Given the description of an element on the screen output the (x, y) to click on. 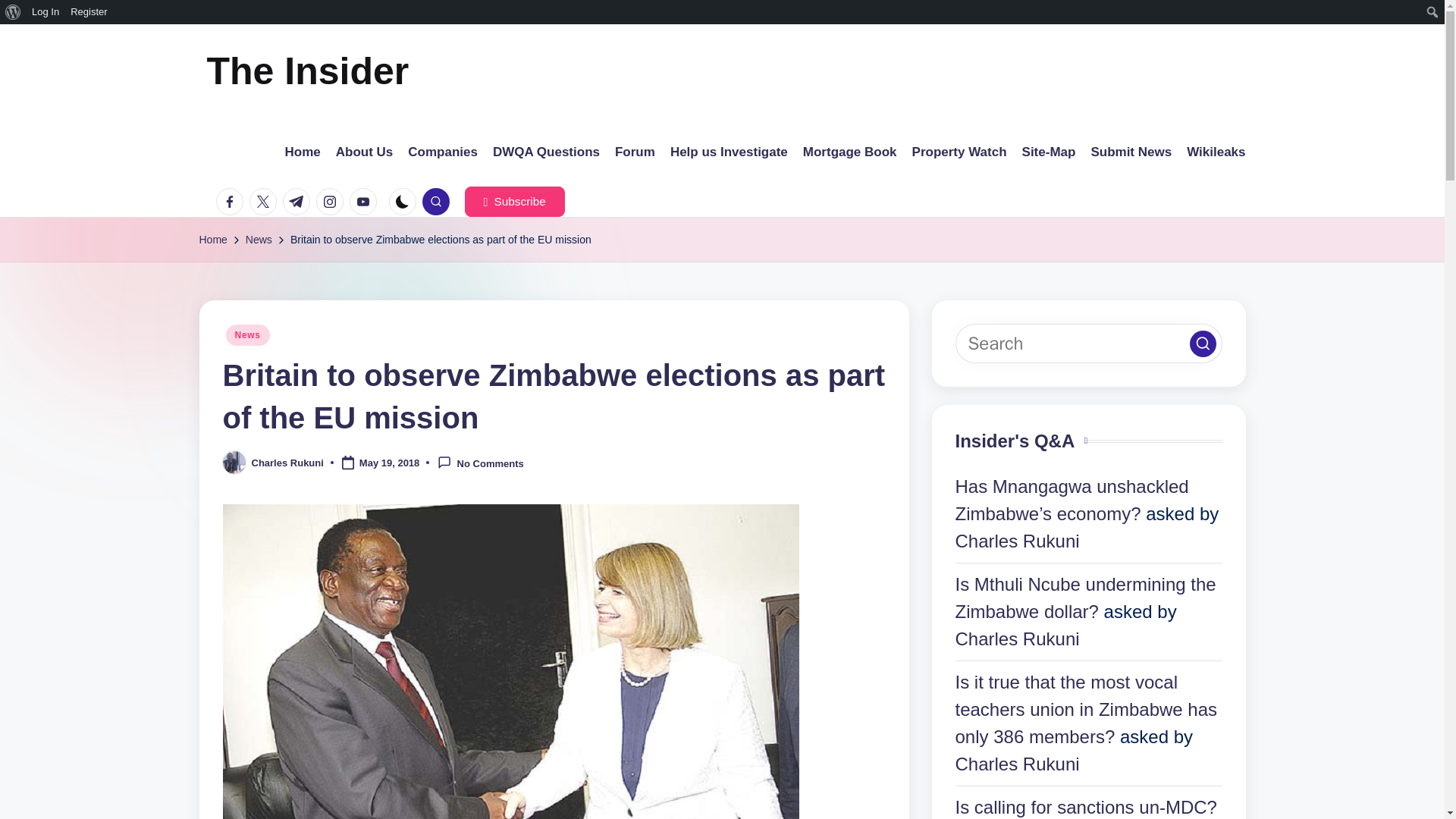
Home (302, 151)
Register (89, 12)
Forum (634, 151)
The Insider (307, 71)
Companies (442, 151)
About Us (364, 151)
Wikileaks (1215, 151)
Charles Rukuni (287, 462)
Log In (45, 12)
instagram.com (332, 201)
Site-Map (1048, 151)
Subscribe (514, 201)
News (259, 239)
twitter.com (265, 201)
No Comments (480, 462)
